Given the description of an element on the screen output the (x, y) to click on. 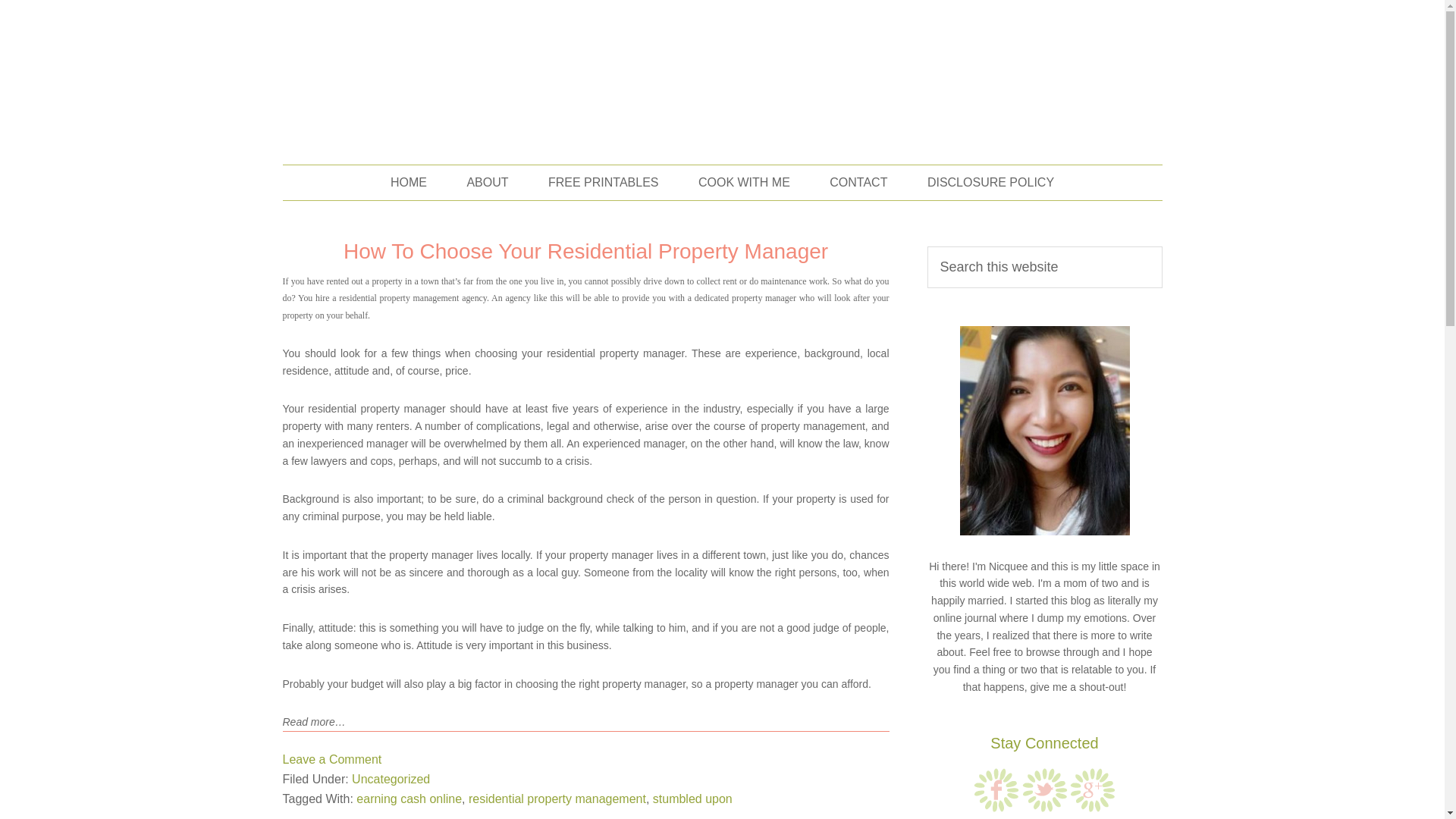
earning cash online (408, 798)
HOME (408, 182)
Leave a Comment (331, 758)
How To Choose Your Residential Property Manager (585, 250)
stumbled upon (692, 798)
ABOUT (486, 182)
residential property management (557, 798)
